Given the description of an element on the screen output the (x, y) to click on. 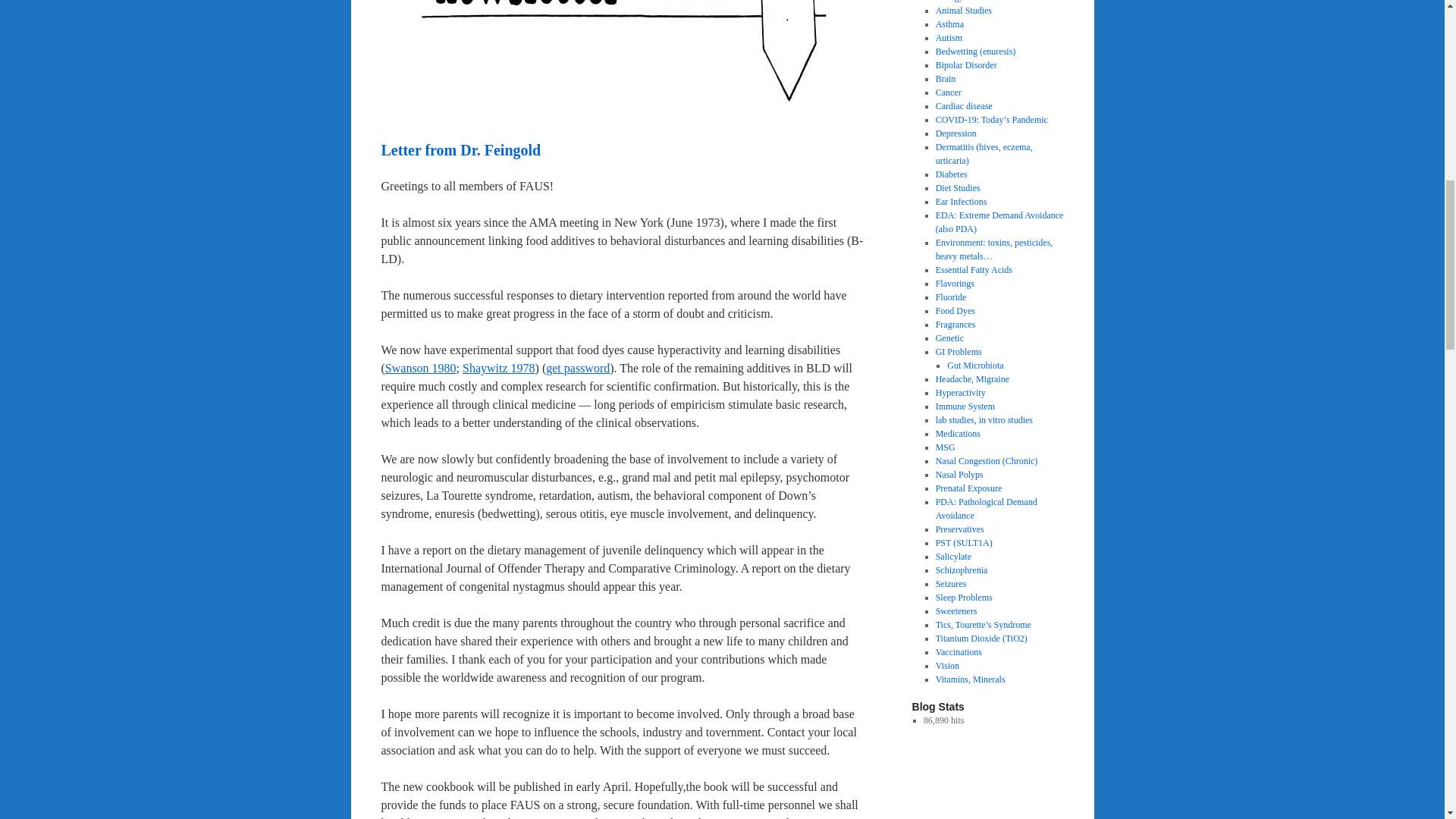
get password (578, 367)
Shaywitz 1978 (499, 367)
Swanson 1980 (421, 367)
